Given the description of an element on the screen output the (x, y) to click on. 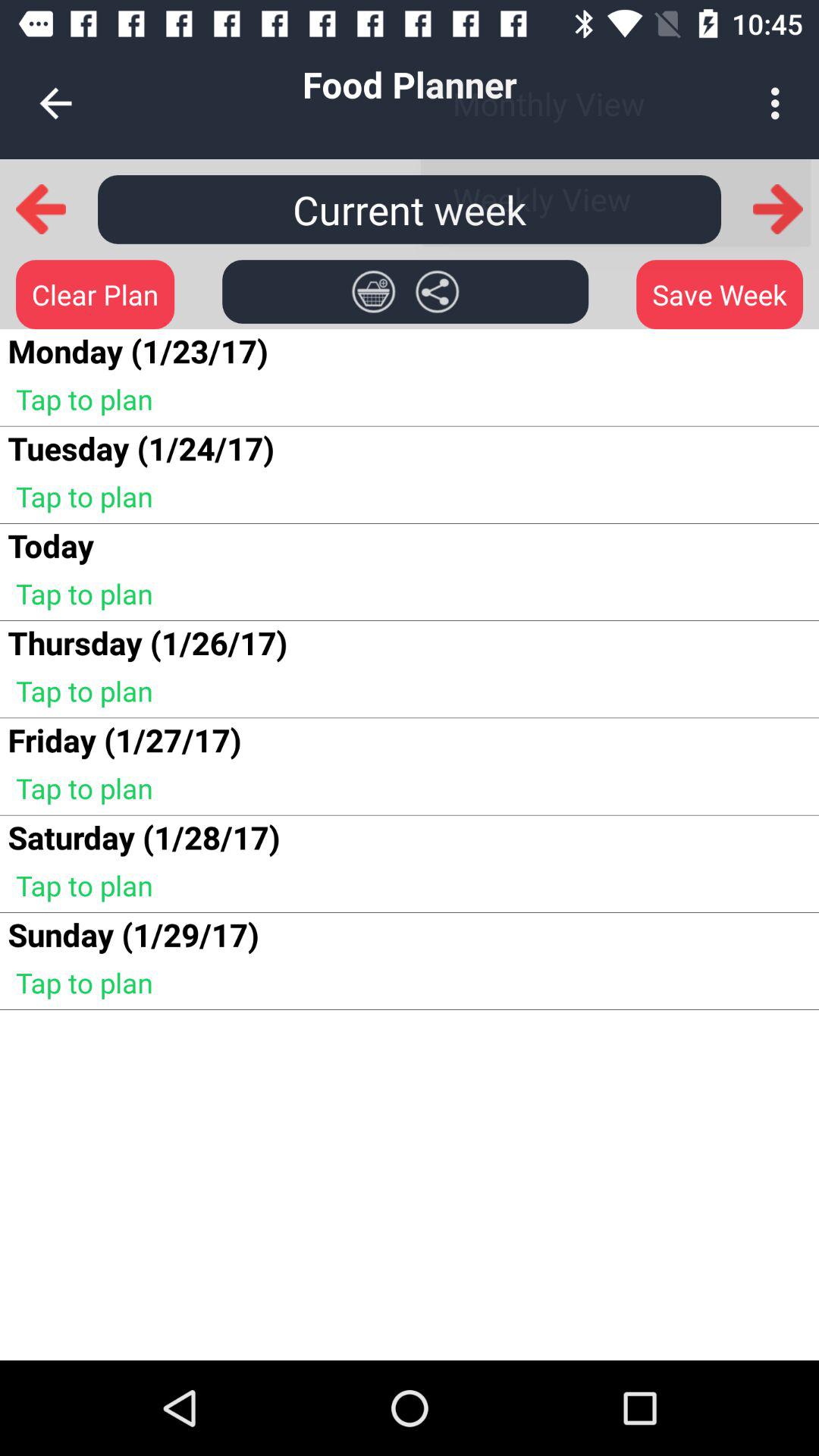
go back previous (40, 209)
